Given the description of an element on the screen output the (x, y) to click on. 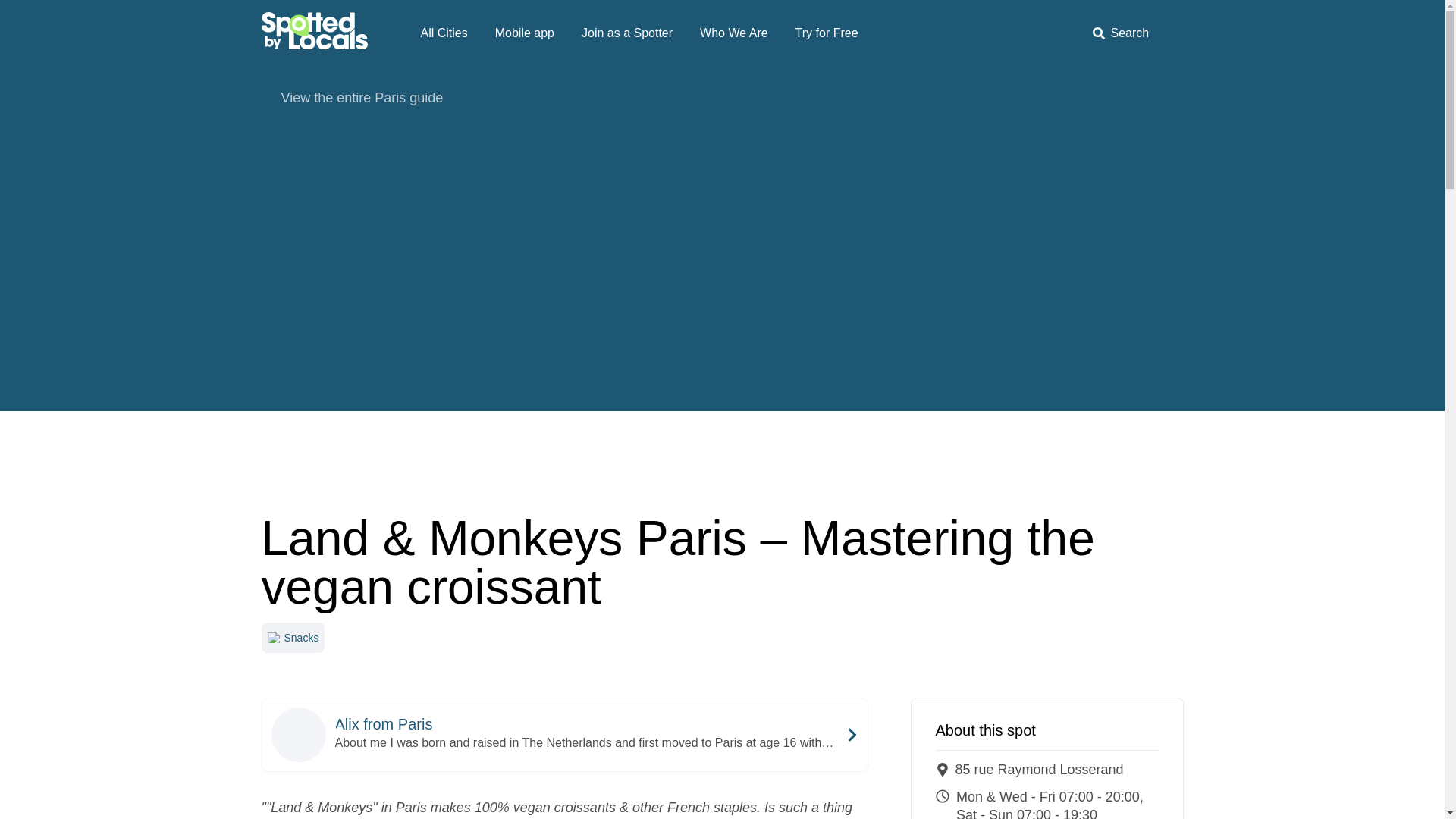
All Cities (443, 33)
View the entire Paris guide (721, 97)
Try for Free (826, 33)
Who We Are (734, 33)
Mobile app (524, 33)
Join as a Spotter (626, 33)
